Given the description of an element on the screen output the (x, y) to click on. 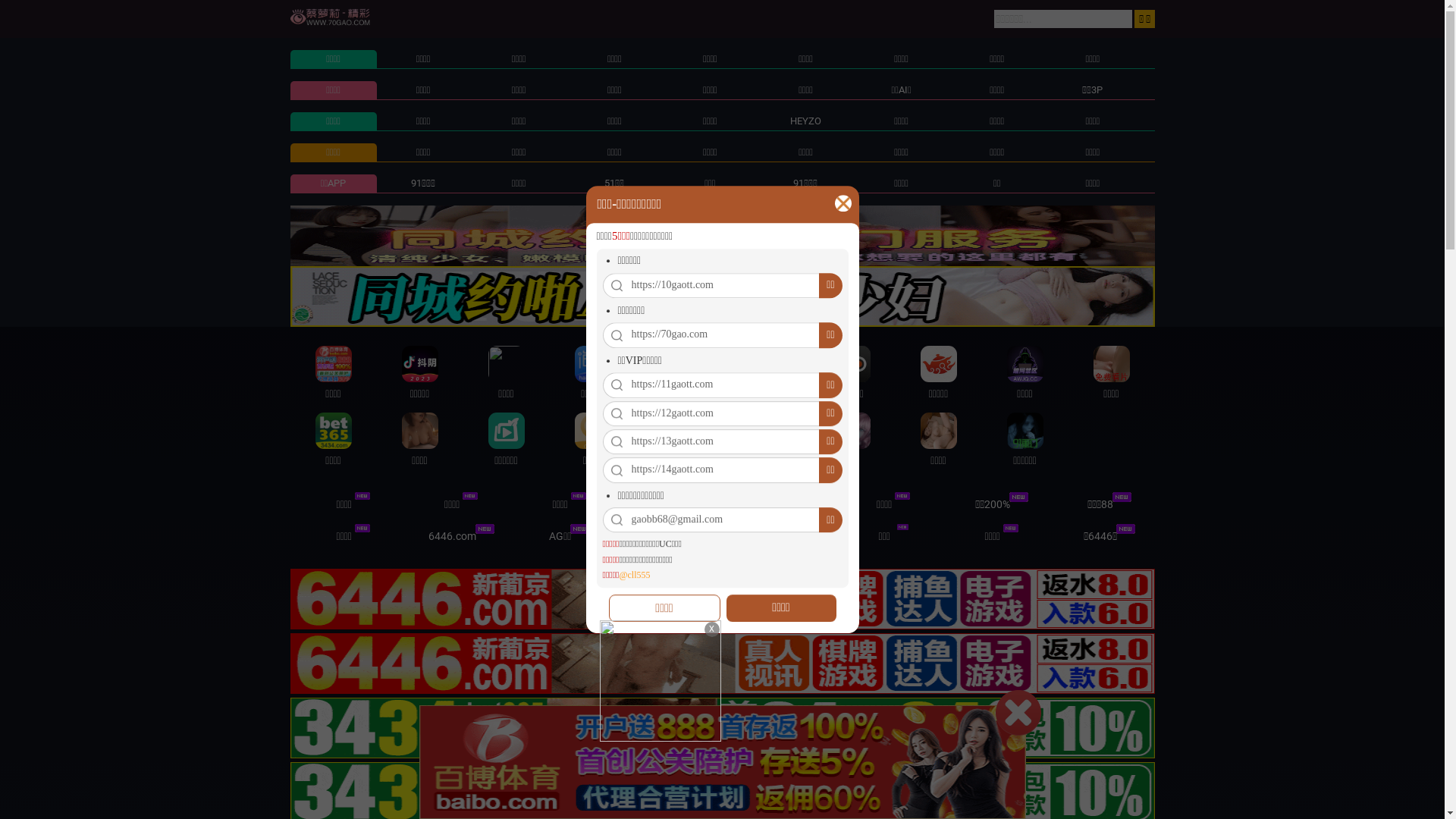
6446.com Element type: text (452, 535)
@cll555 Element type: text (633, 574)
HEYZO Element type: text (805, 120)
